Given the description of an element on the screen output the (x, y) to click on. 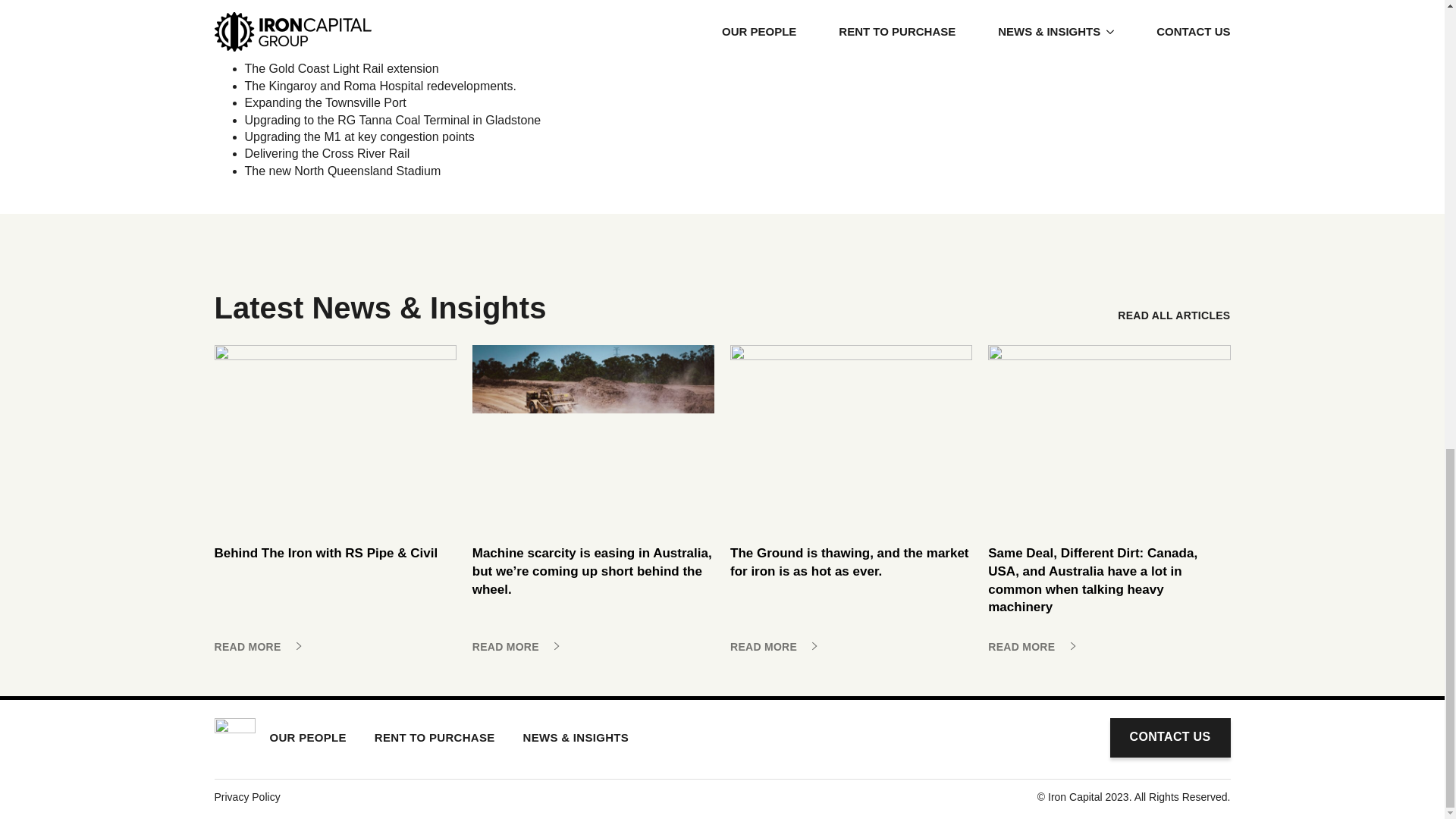
OUR PEOPLE (307, 737)
READ MORE (774, 646)
READ MORE (1032, 646)
Privacy Policy (246, 797)
READ ALL ARTICLES (1174, 315)
READ MORE (515, 646)
READ MORE (258, 646)
CONTACT US (1169, 737)
RENT TO PURCHASE (434, 737)
